Given the description of an element on the screen output the (x, y) to click on. 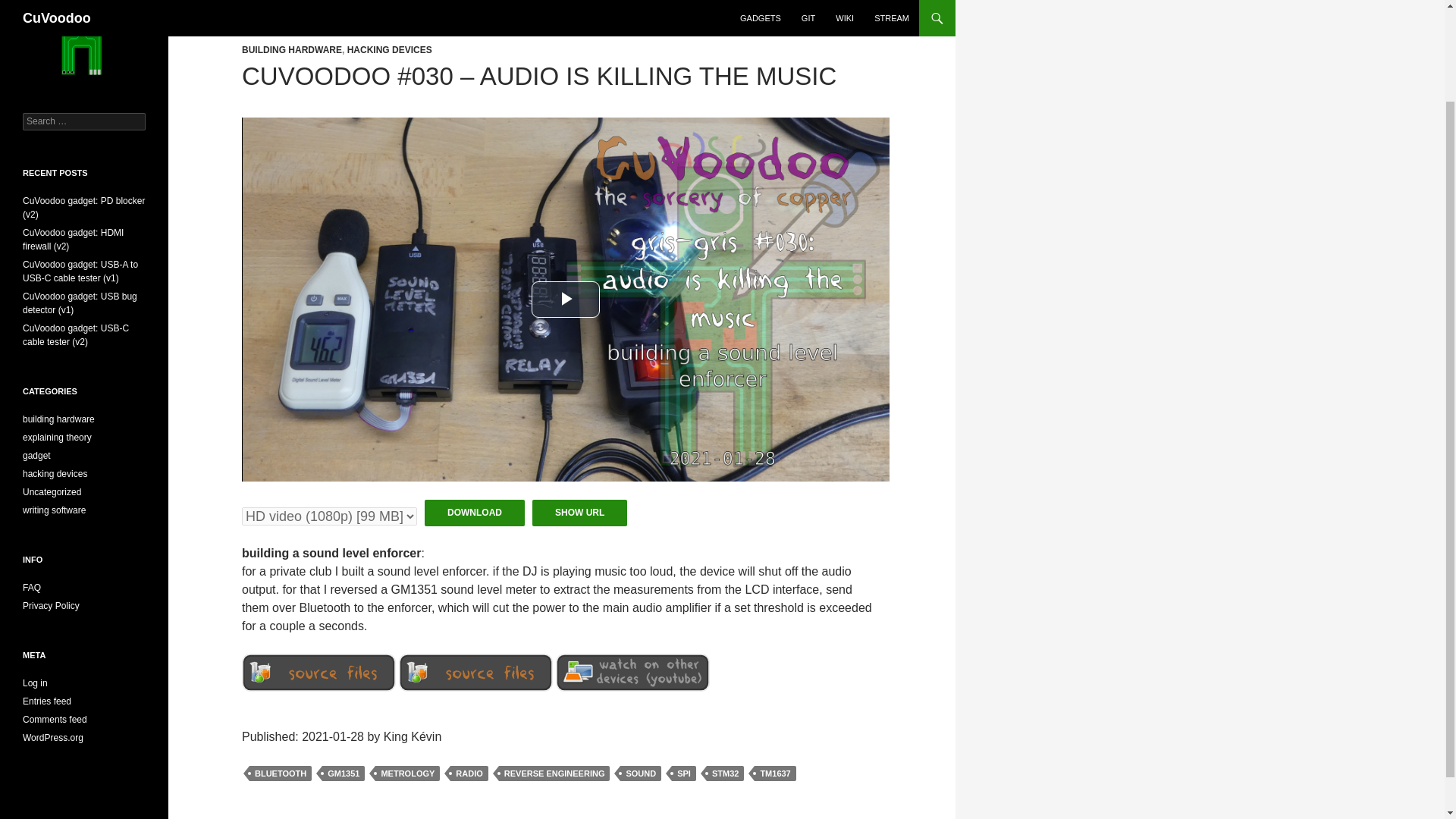
Play Video (565, 299)
HACKING DEVICES (389, 50)
REVERSE ENGINEERING (554, 773)
SHOW URL (579, 512)
BLUETOOTH (279, 773)
SPI (683, 773)
GM1351 (343, 773)
METROLOGY (407, 773)
STM32 (725, 773)
DOWNLOAD (474, 512)
